Given the description of an element on the screen output the (x, y) to click on. 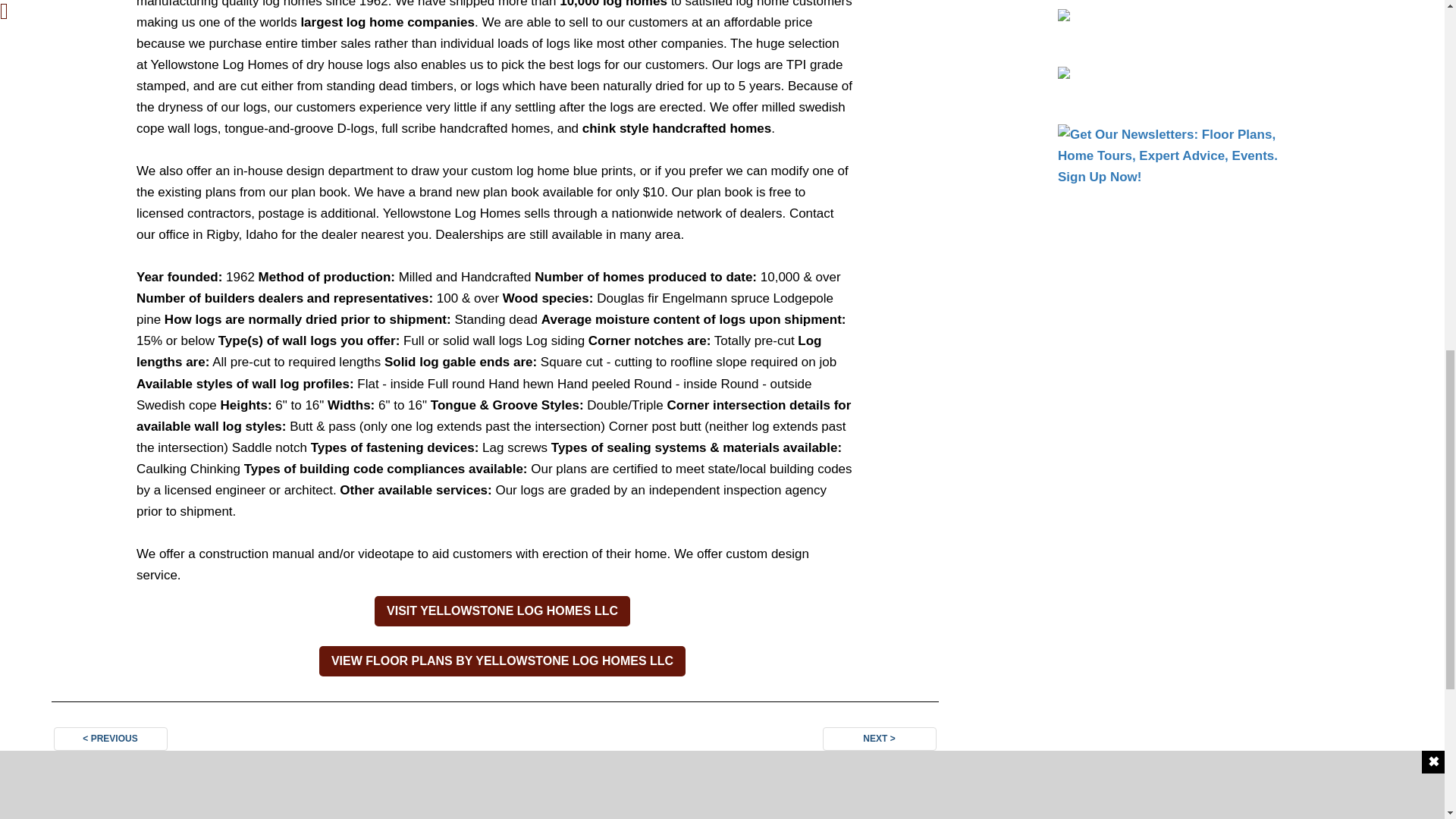
Get Your Company Listed.  Sign up now for free. (1171, 30)
